Given the description of an element on the screen output the (x, y) to click on. 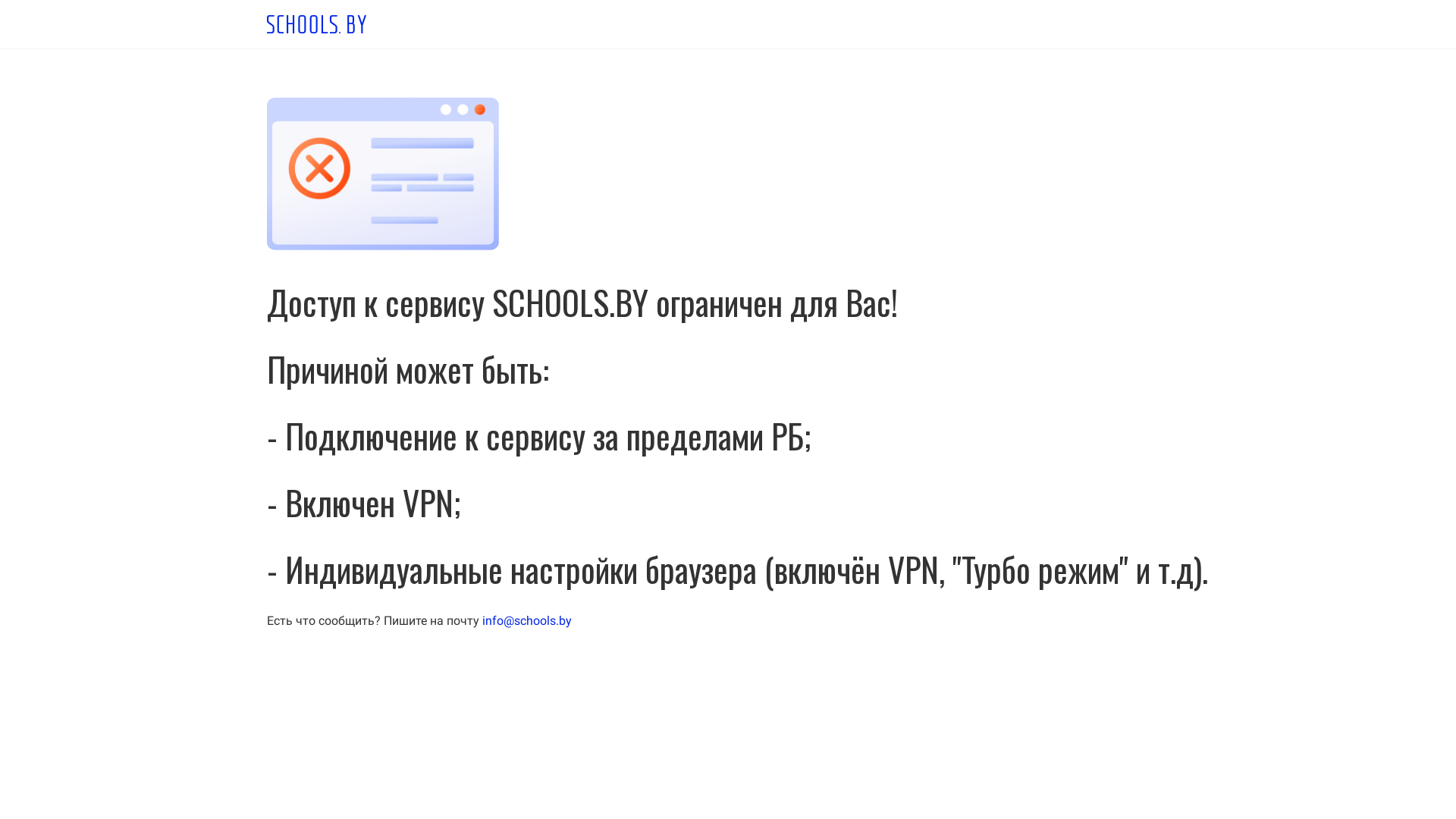
info@schools.by Element type: text (526, 620)
